Given the description of an element on the screen output the (x, y) to click on. 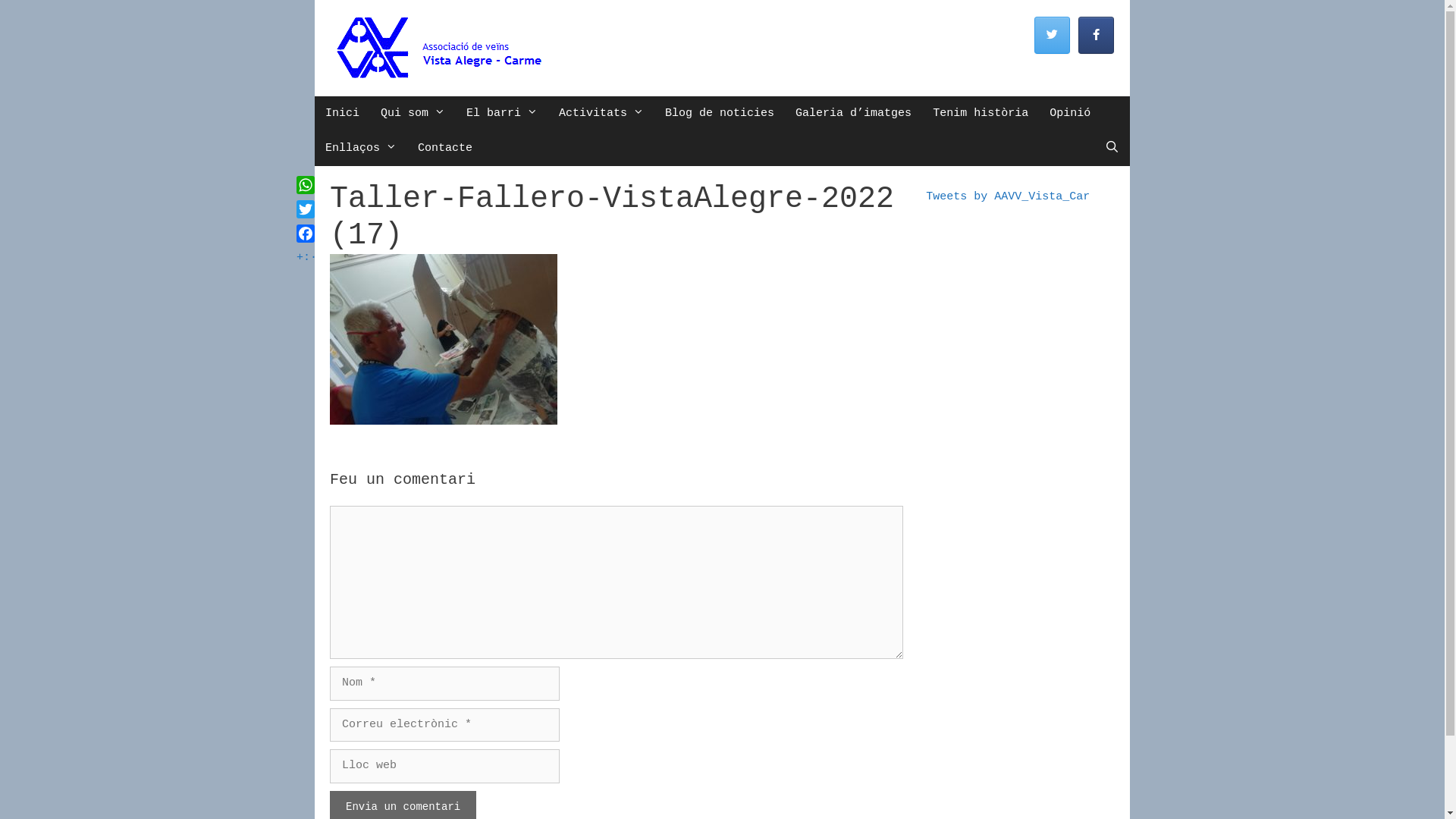
Tweets by AAVV_Vista_Car Element type: text (1007, 196)
El barri Element type: text (501, 113)
Vista Alegre - Carme on Twitter Element type: hover (1052, 34)
Contacte Element type: text (445, 148)
Activitats Element type: text (601, 113)
Blog de noticies Element type: text (719, 113)
Facebook Element type: text (306, 233)
Vista Alegre - Carme on Facebook Element type: hover (1095, 34)
WhatsApp Element type: text (306, 184)
Twitter Element type: text (306, 209)
Inici Element type: text (342, 113)
Qui som Element type: text (412, 113)
